Given the description of an element on the screen output the (x, y) to click on. 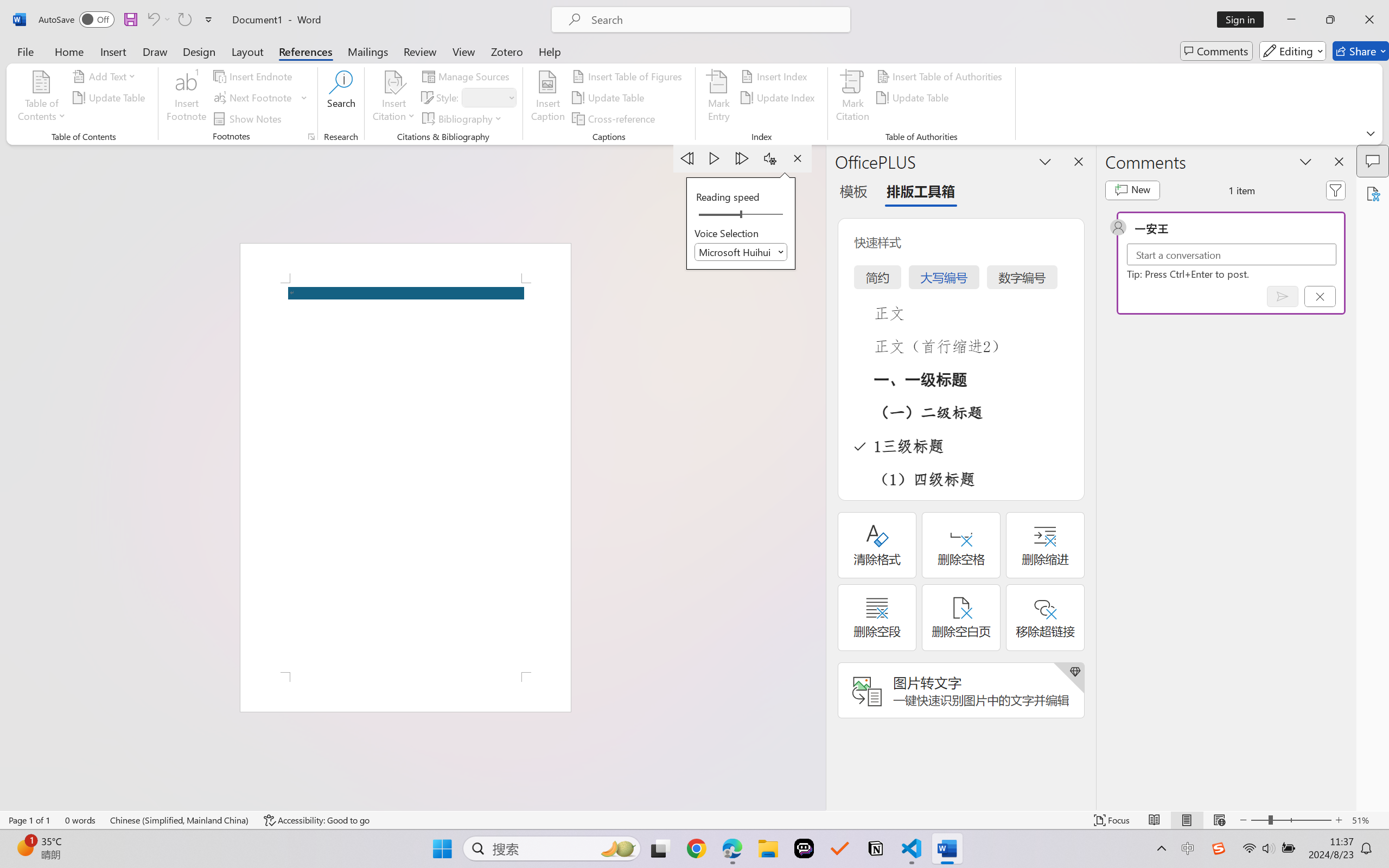
Cross-reference... (615, 118)
Voice Selection (740, 252)
Manage Sources... (467, 75)
